Given the description of an element on the screen output the (x, y) to click on. 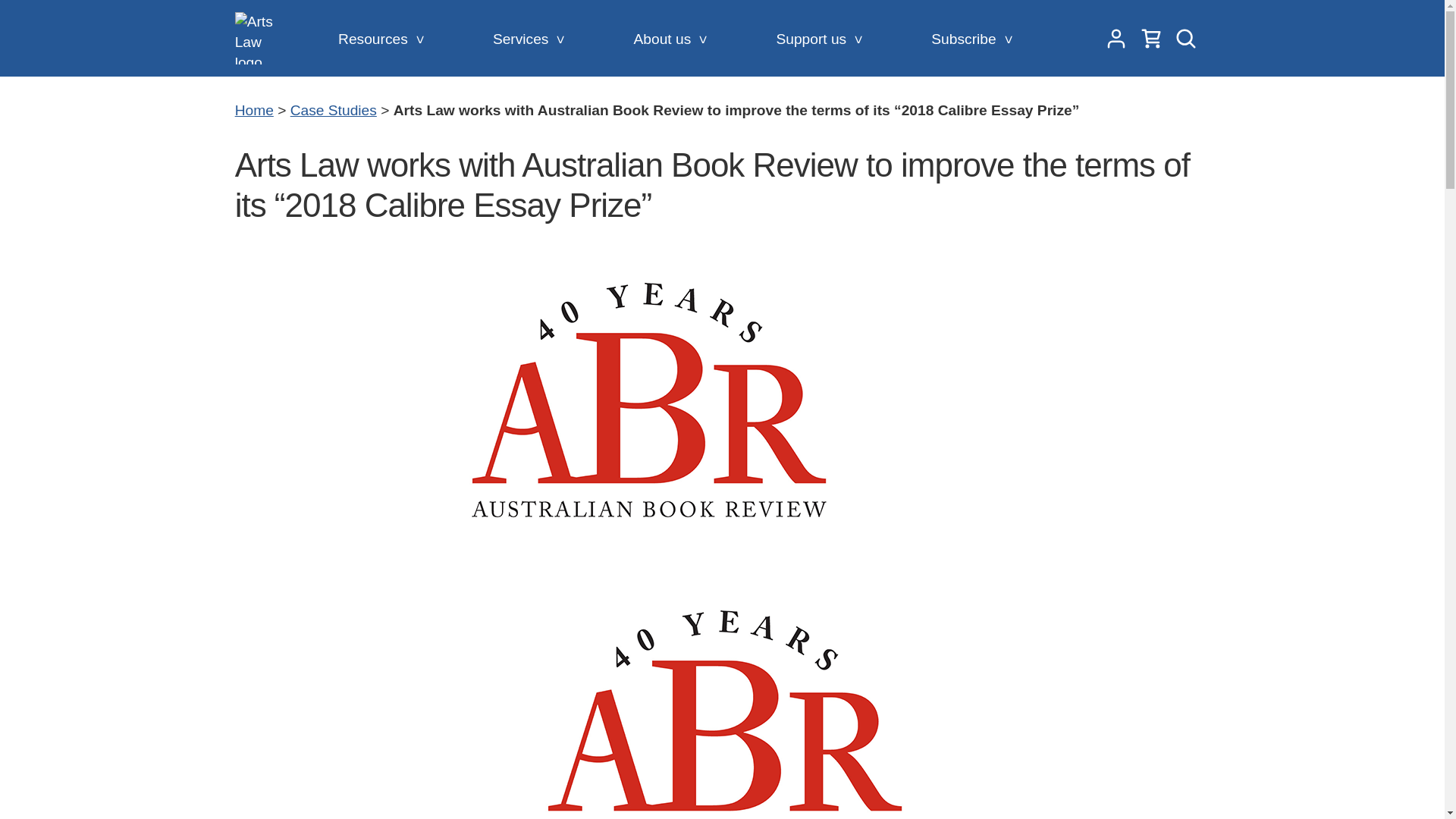
Services (525, 39)
Account (1116, 38)
Support us (815, 39)
Subscribe (967, 39)
Resources (376, 39)
Open Search (1185, 38)
Your cart is empty (1150, 38)
About us (666, 39)
My Account (1116, 38)
